Given the description of an element on the screen output the (x, y) to click on. 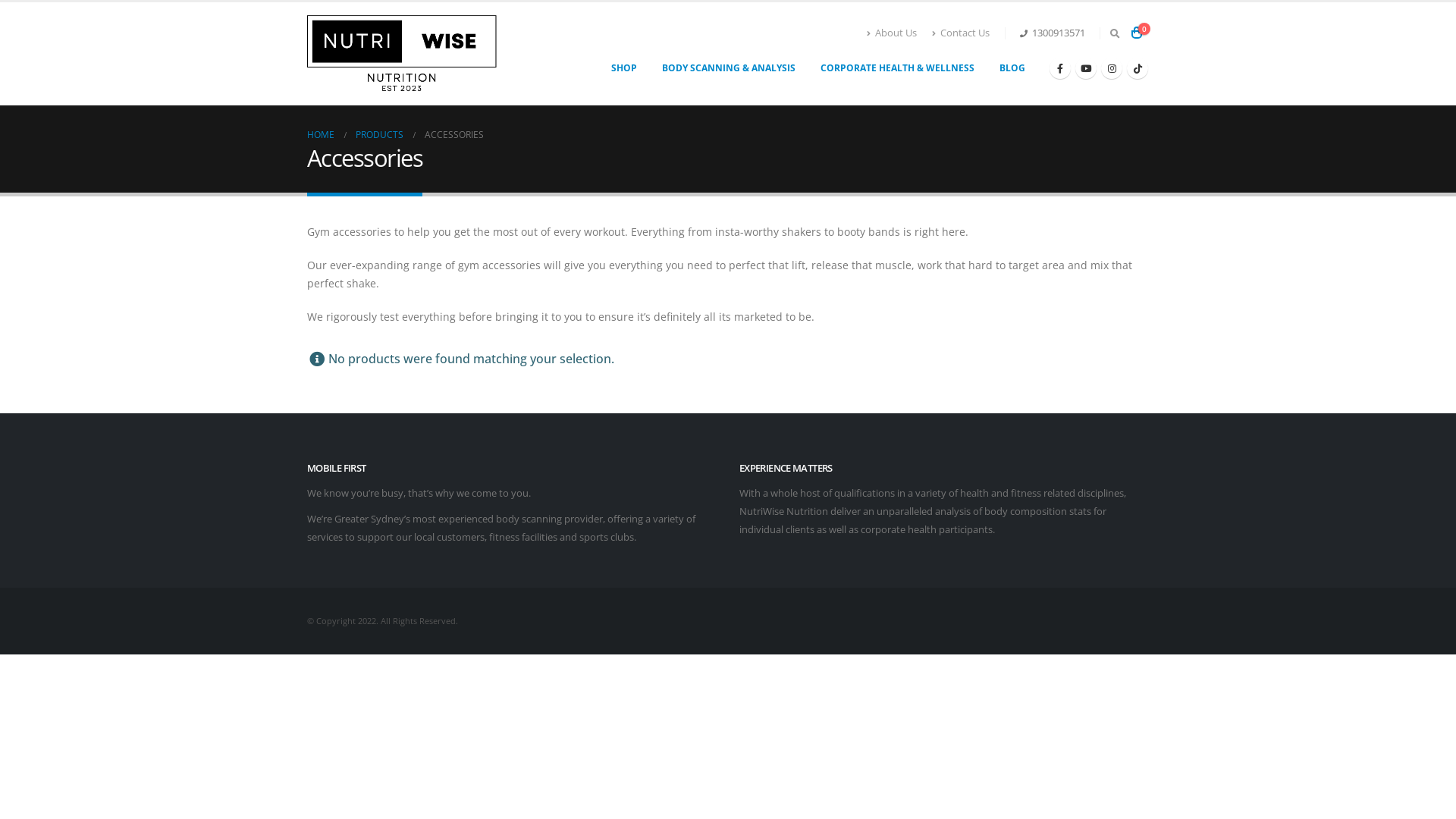
CORPORATE HEALTH & WELLNESS Element type: text (897, 68)
Youtube Element type: hover (1085, 67)
BODY SCANNING & ANALYSIS Element type: text (728, 68)
About Us Element type: text (895, 33)
Tiktok Element type: hover (1137, 67)
SHOP Element type: text (624, 68)
Instagram Element type: hover (1111, 67)
Facebook Element type: hover (1059, 67)
BLOG Element type: text (1012, 68)
PRODUCTS Element type: text (379, 134)
Contact Us Element type: text (960, 33)
HOME Element type: text (320, 134)
